Given the description of an element on the screen output the (x, y) to click on. 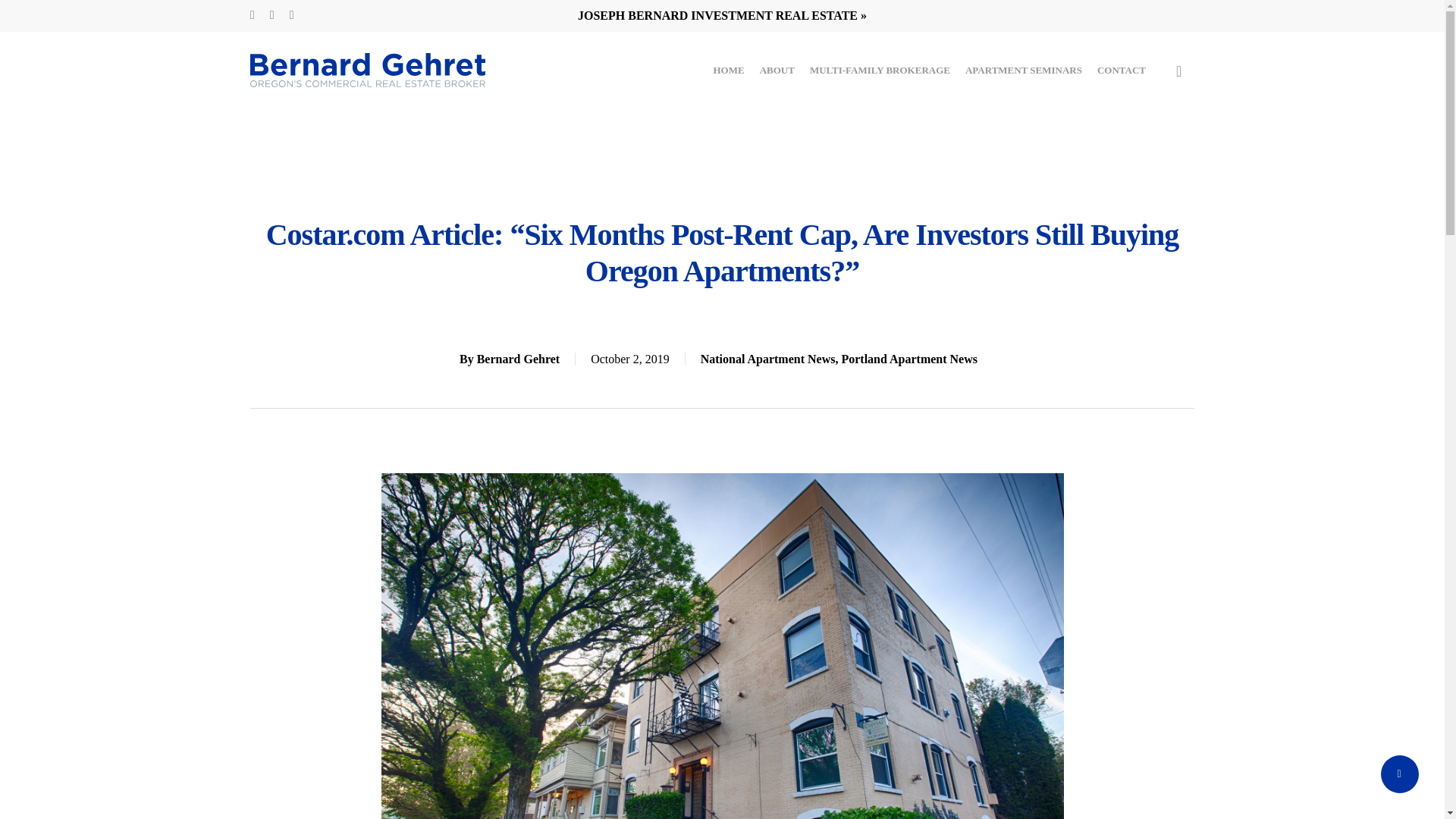
HOME (728, 69)
ABOUT (777, 69)
Bernard Gehret (518, 358)
National Apartment News (767, 358)
MULTI-FAMILY BROKERAGE (879, 69)
Posts by Bernard Gehret (518, 358)
Portland Apartment News (908, 358)
APARTMENT SEMINARS (1023, 69)
CONTACT (1121, 69)
